Given the description of an element on the screen output the (x, y) to click on. 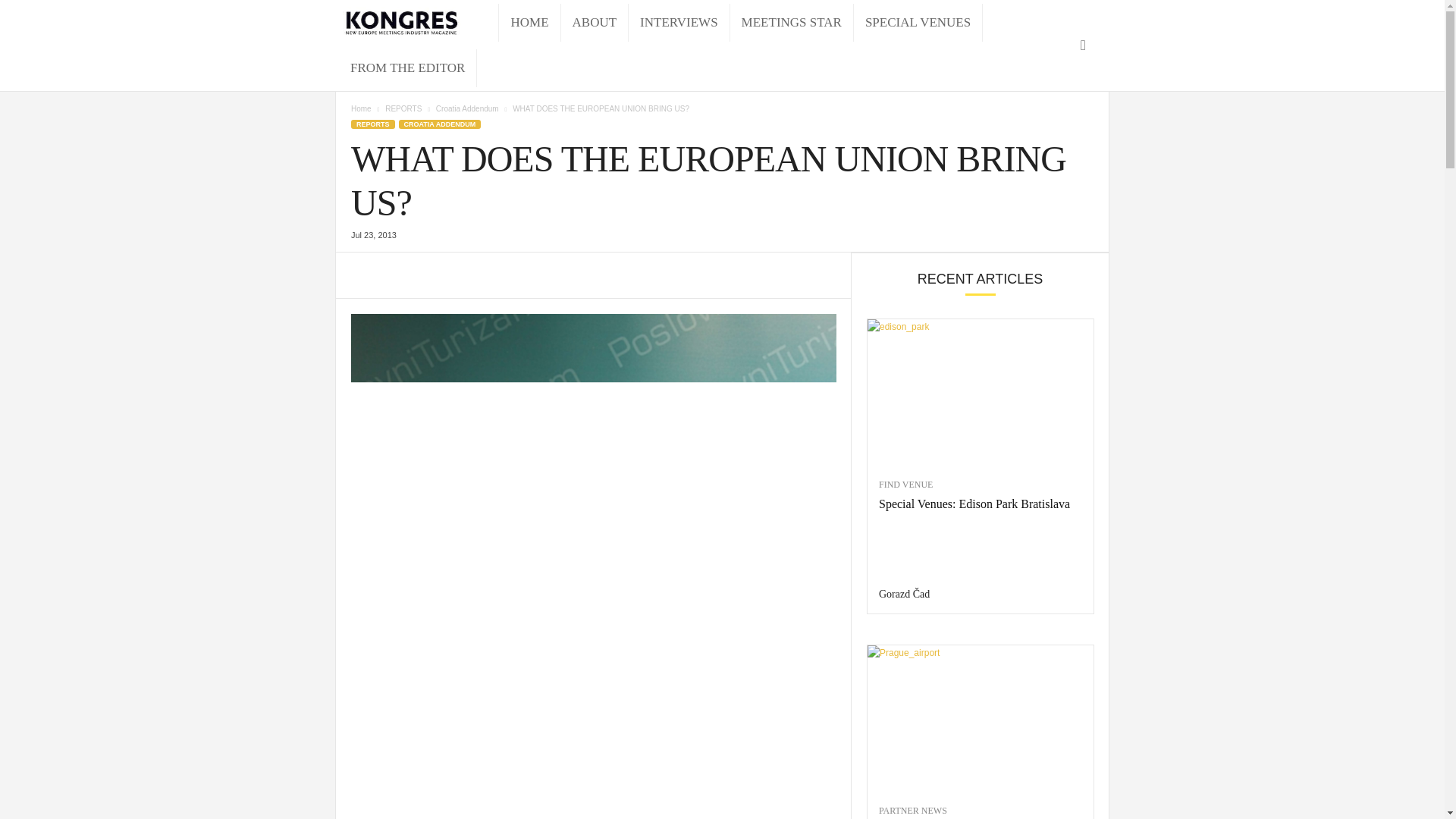
FROM THE EDITOR (407, 67)
Home (360, 108)
REPORTS (403, 108)
View all posts in Croatia Addendum (467, 108)
HOME (529, 22)
Croatia Addendum (467, 108)
SPECIAL VENUES (917, 22)
View all posts in REPORTS (403, 108)
ABOUT (594, 22)
MEETINGS STAR (791, 22)
INTERVIEWS (678, 22)
